Given the description of an element on the screen output the (x, y) to click on. 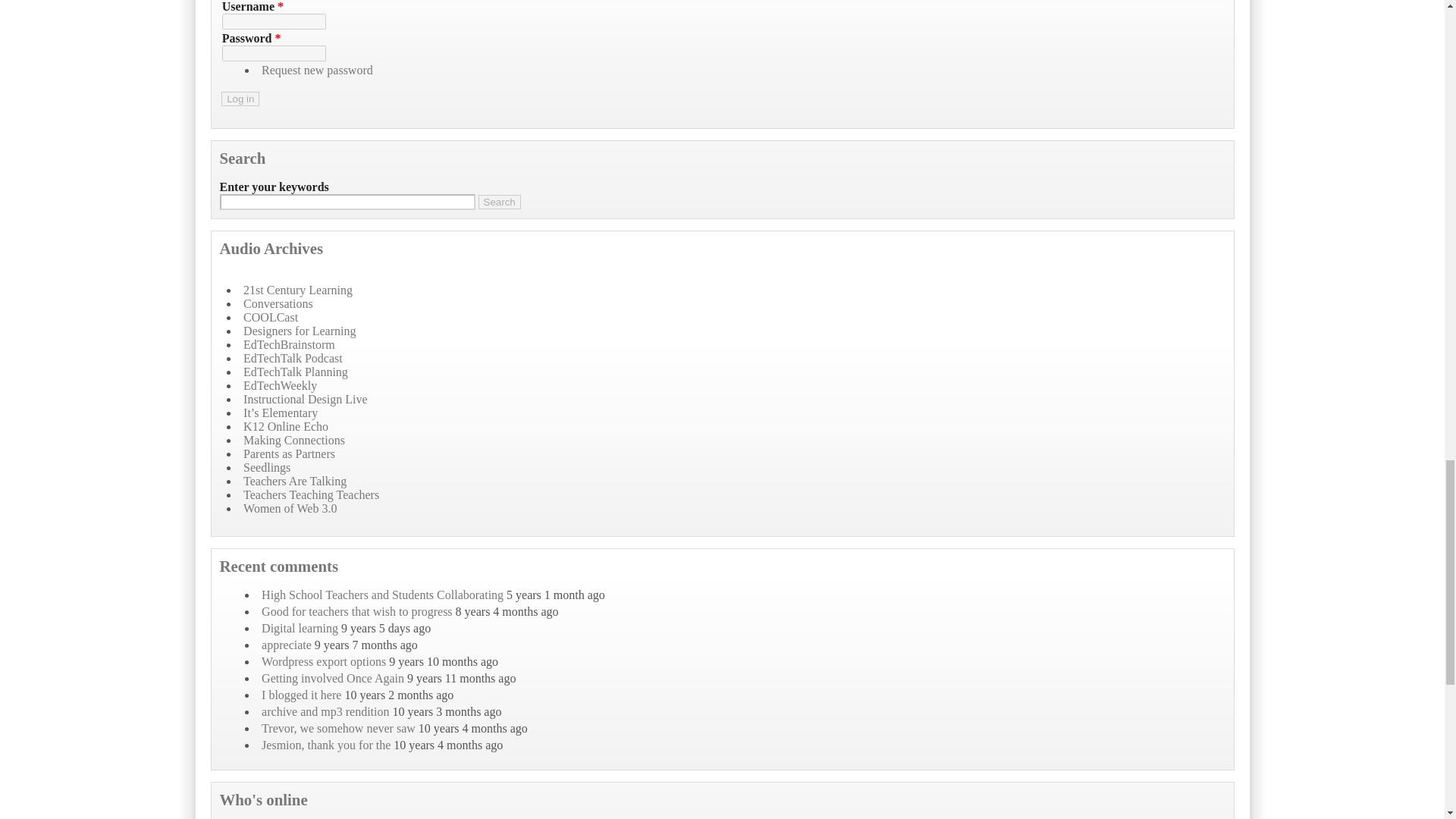
Search (498, 201)
Log in (240, 98)
